Given the description of an element on the screen output the (x, y) to click on. 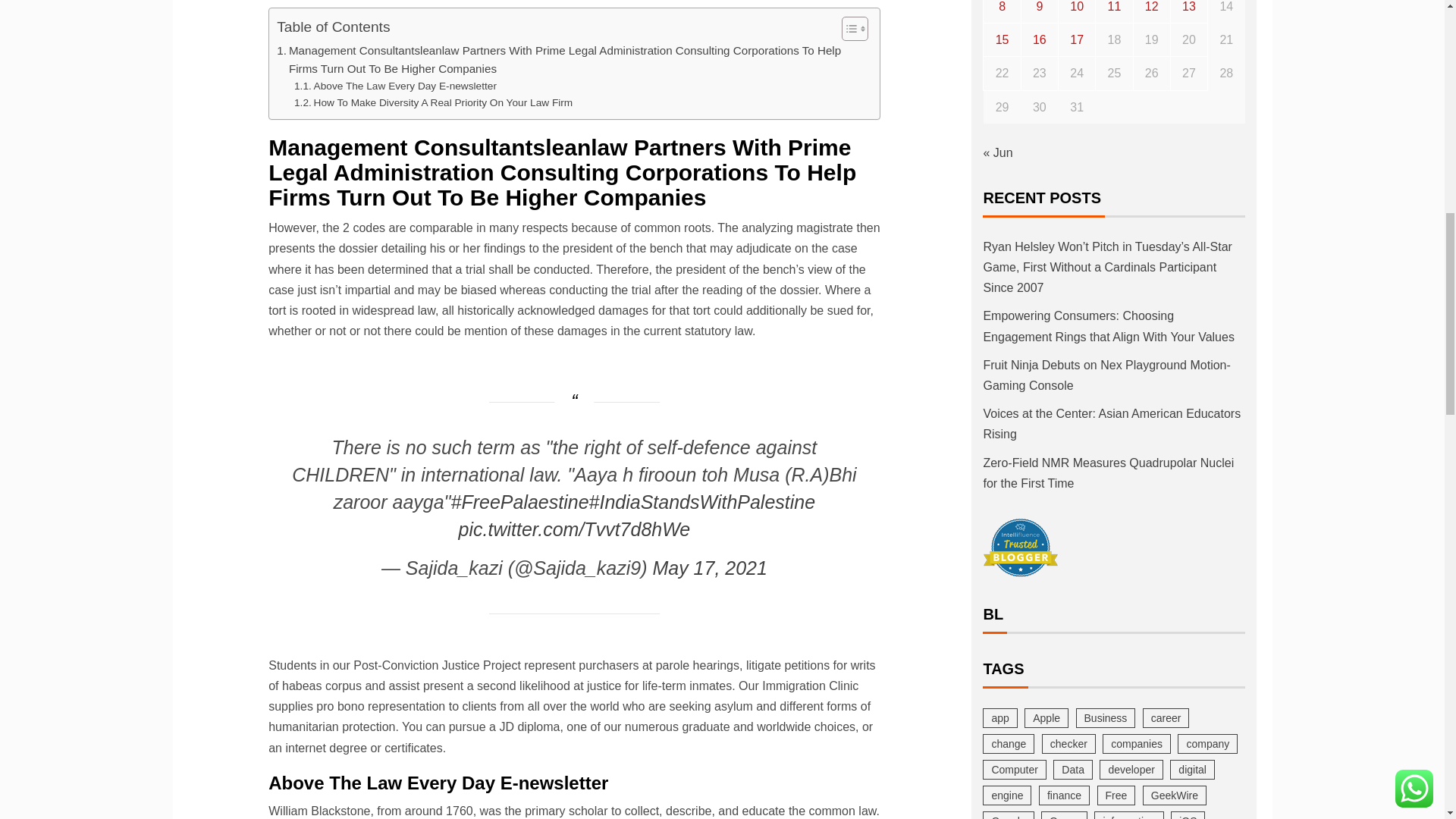
How To Make Diversity A Real Priority On Your Law Firm (433, 103)
Above The Law Every Day E-newsletter (395, 86)
How To Make Diversity A Real Priority On Your Law Firm (433, 103)
Above The Law Every Day E-newsletter (395, 86)
